Given the description of an element on the screen output the (x, y) to click on. 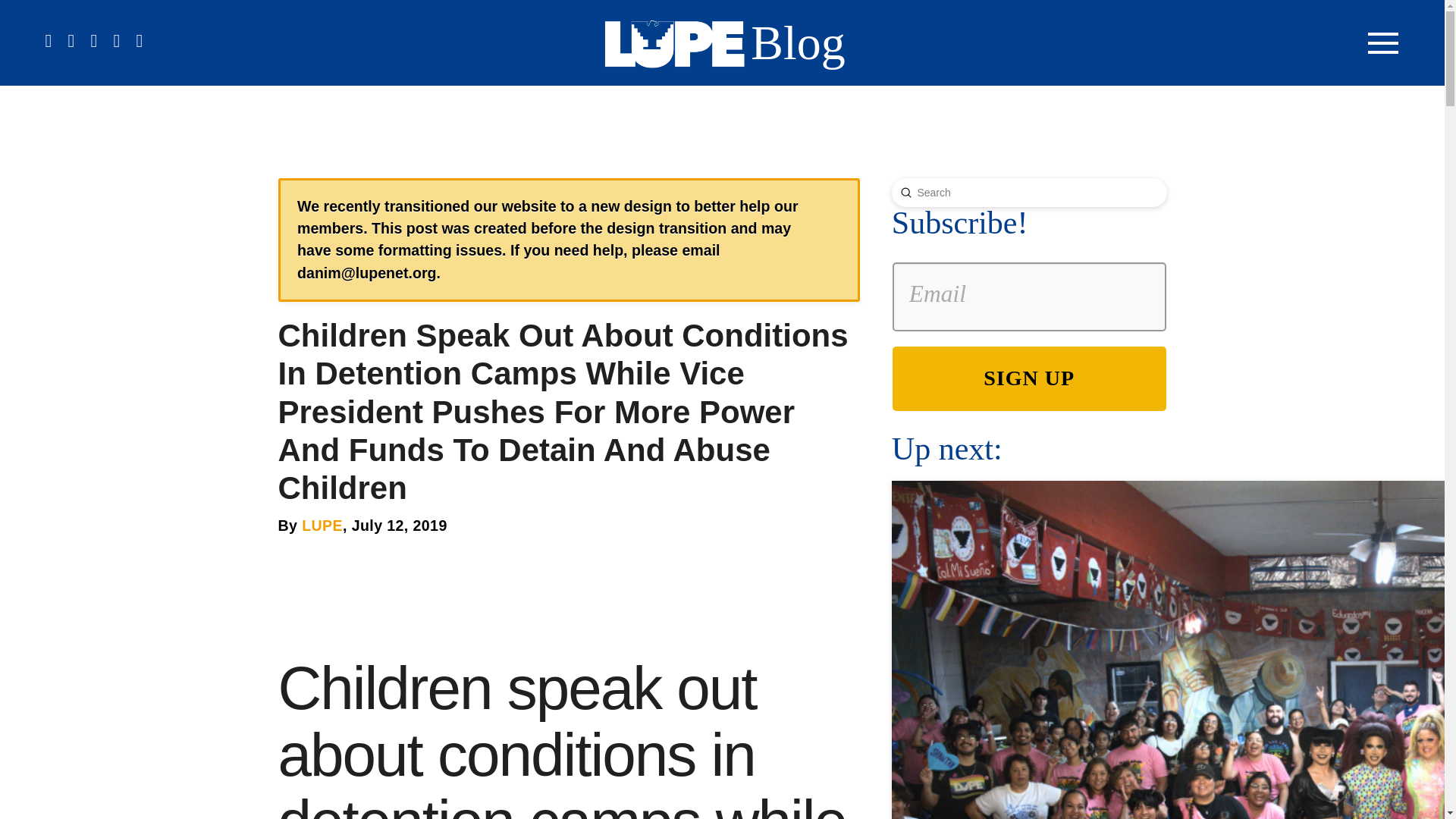
SIGN UP (1029, 378)
Submit (906, 192)
LUPE (321, 524)
Blog (797, 42)
